Given the description of an element on the screen output the (x, y) to click on. 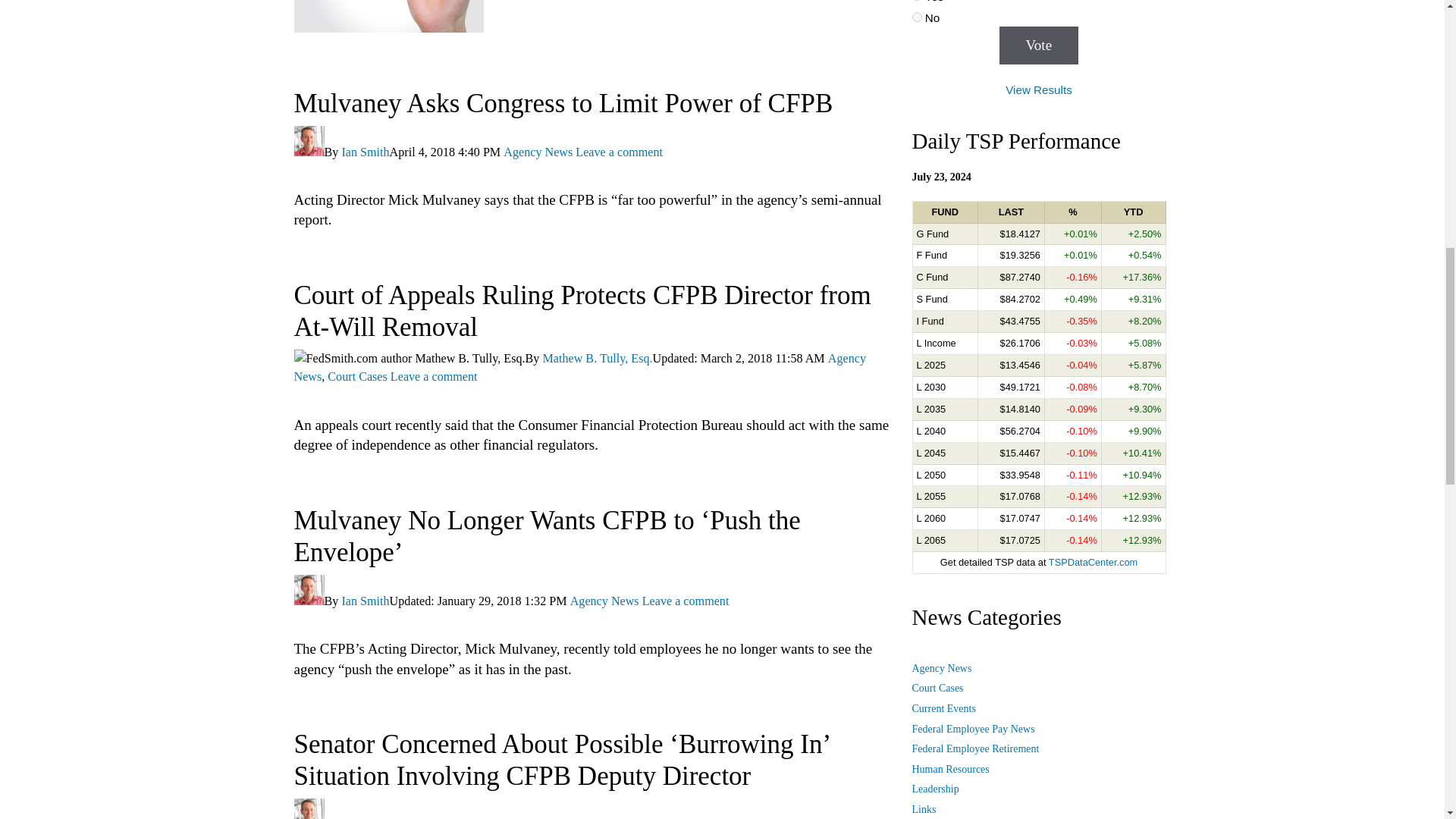
View all articles by Ian Smith (364, 818)
View all articles by Mathew B. Tully, Esq. (596, 358)
Leave a comment (433, 376)
Ian Smith (364, 600)
   Vote    (1038, 45)
Mathew B. Tully, Esq. (596, 358)
Agency News (604, 600)
Ian Smith (364, 151)
Agency News (537, 151)
2330 (916, 17)
Agency News (580, 367)
Mulvaney Asks Congress to Limit Power of CFPB (563, 102)
View all articles by Ian Smith (364, 151)
